Given the description of an element on the screen output the (x, y) to click on. 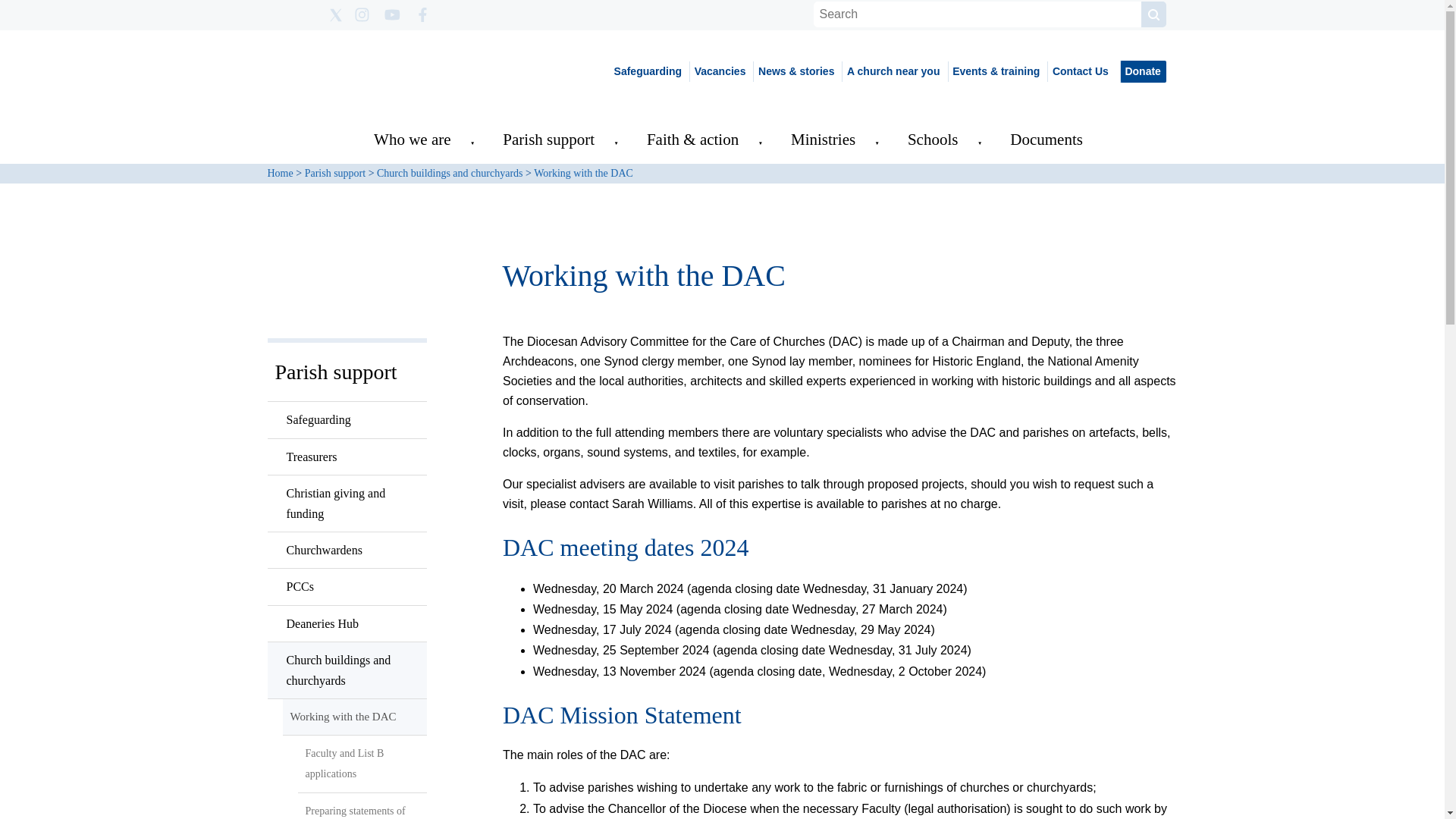
Logo (381, 70)
A church near you (892, 71)
Contact Us (1079, 71)
Donate (1142, 71)
Vacancies (718, 71)
